Given the description of an element on the screen output the (x, y) to click on. 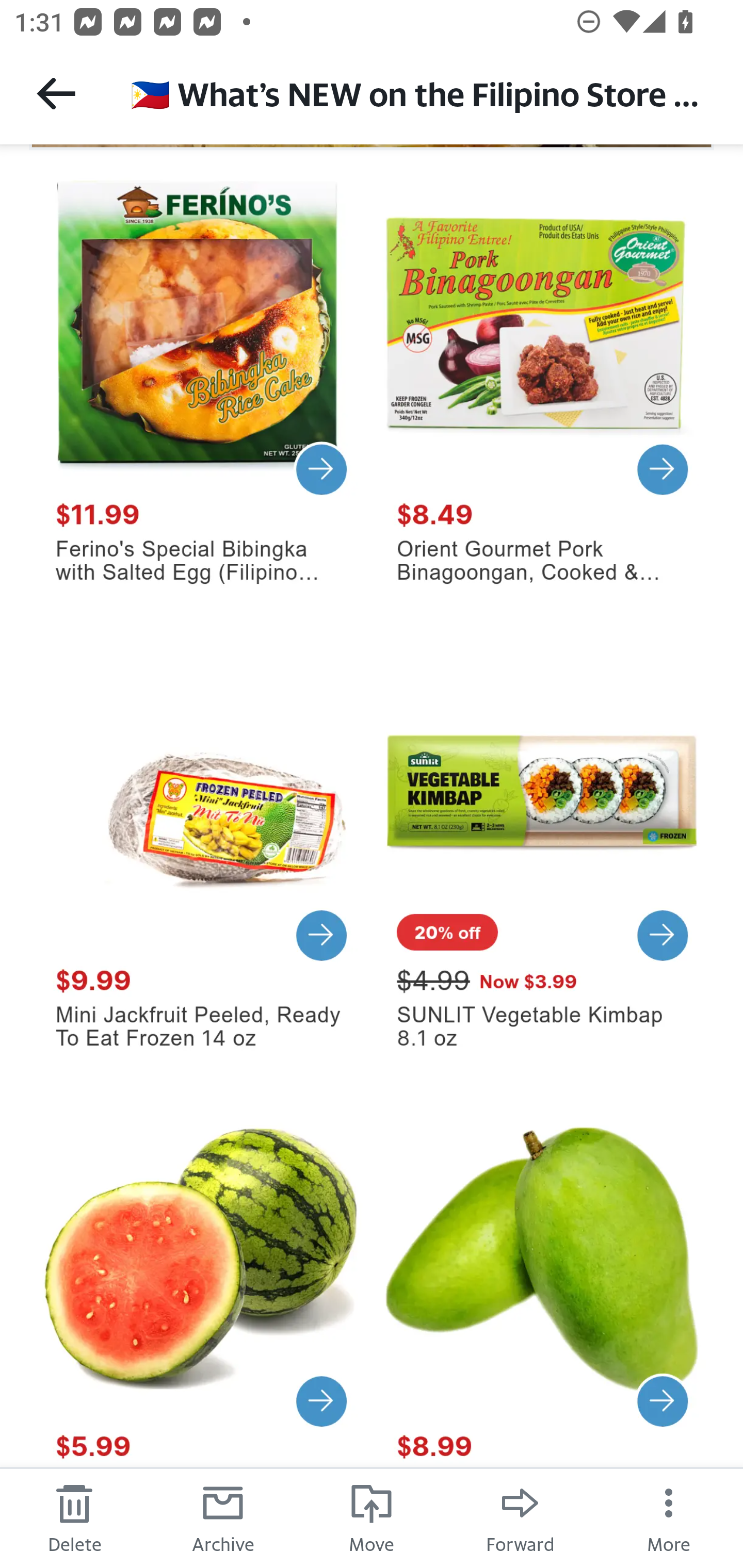
Back (55, 92)
Delete (74, 1517)
Archive (222, 1517)
Move (371, 1517)
Forward (519, 1517)
More (668, 1517)
